Given the description of an element on the screen output the (x, y) to click on. 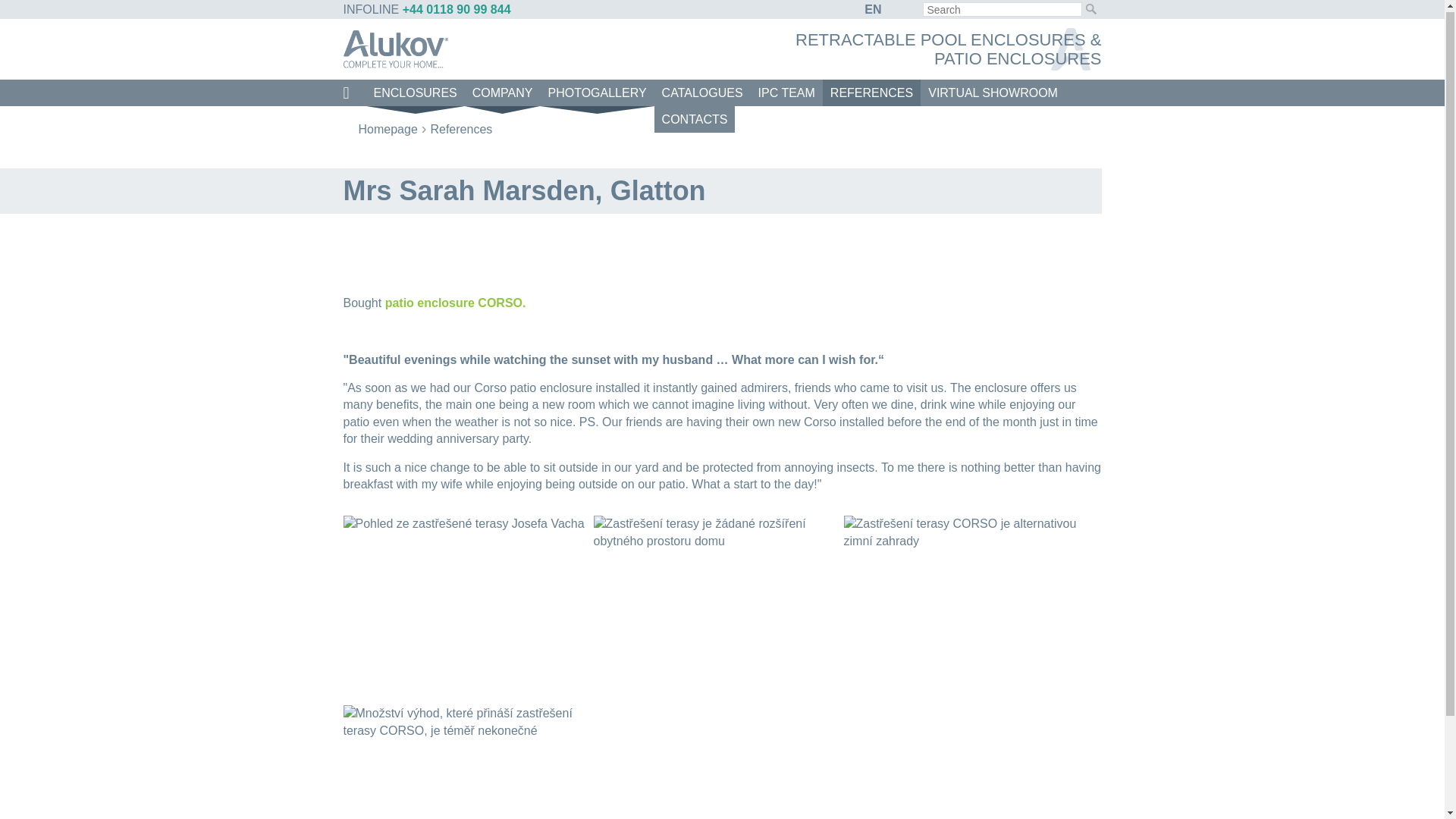
Search (1090, 7)
Search (1090, 7)
ENCLOSURES (414, 90)
